Given the description of an element on the screen output the (x, y) to click on. 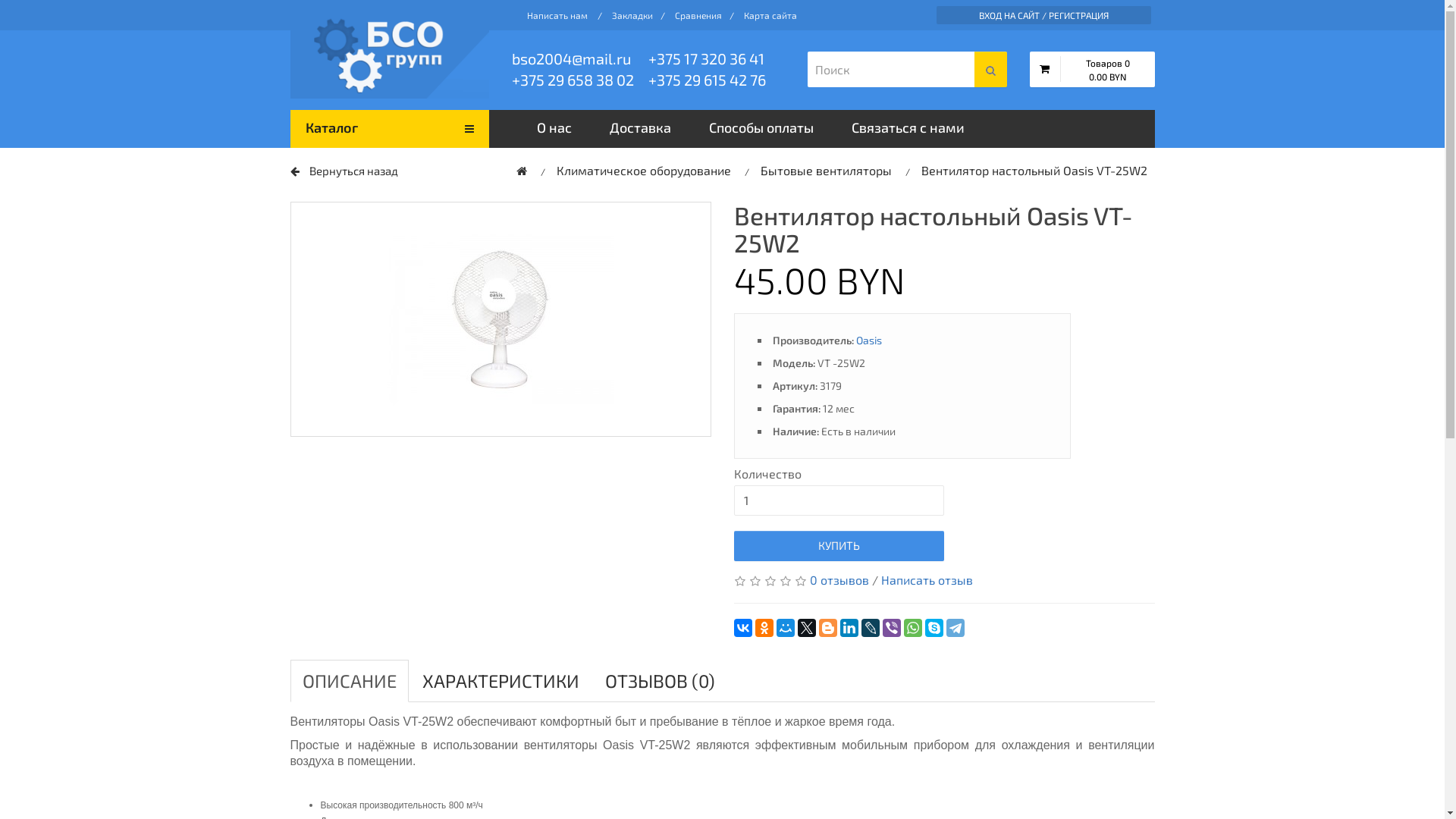
Twitter Element type: hover (806, 627)
Skype Element type: hover (934, 627)
Oasis Element type: text (868, 339)
LinkedIn Element type: hover (849, 627)
+375 17 320 36 41 Element type: text (716, 58)
Viber Element type: hover (891, 627)
+375 29 615 42 76 Element type: text (716, 79)
WhatsApp Element type: hover (912, 627)
LiveJournal Element type: hover (870, 627)
Blogger Element type: hover (828, 627)
bso2004@mail.ru Element type: text (579, 58)
+375 29 658 38 02 Element type: text (579, 79)
Telegram Element type: hover (955, 627)
